Given the description of an element on the screen output the (x, y) to click on. 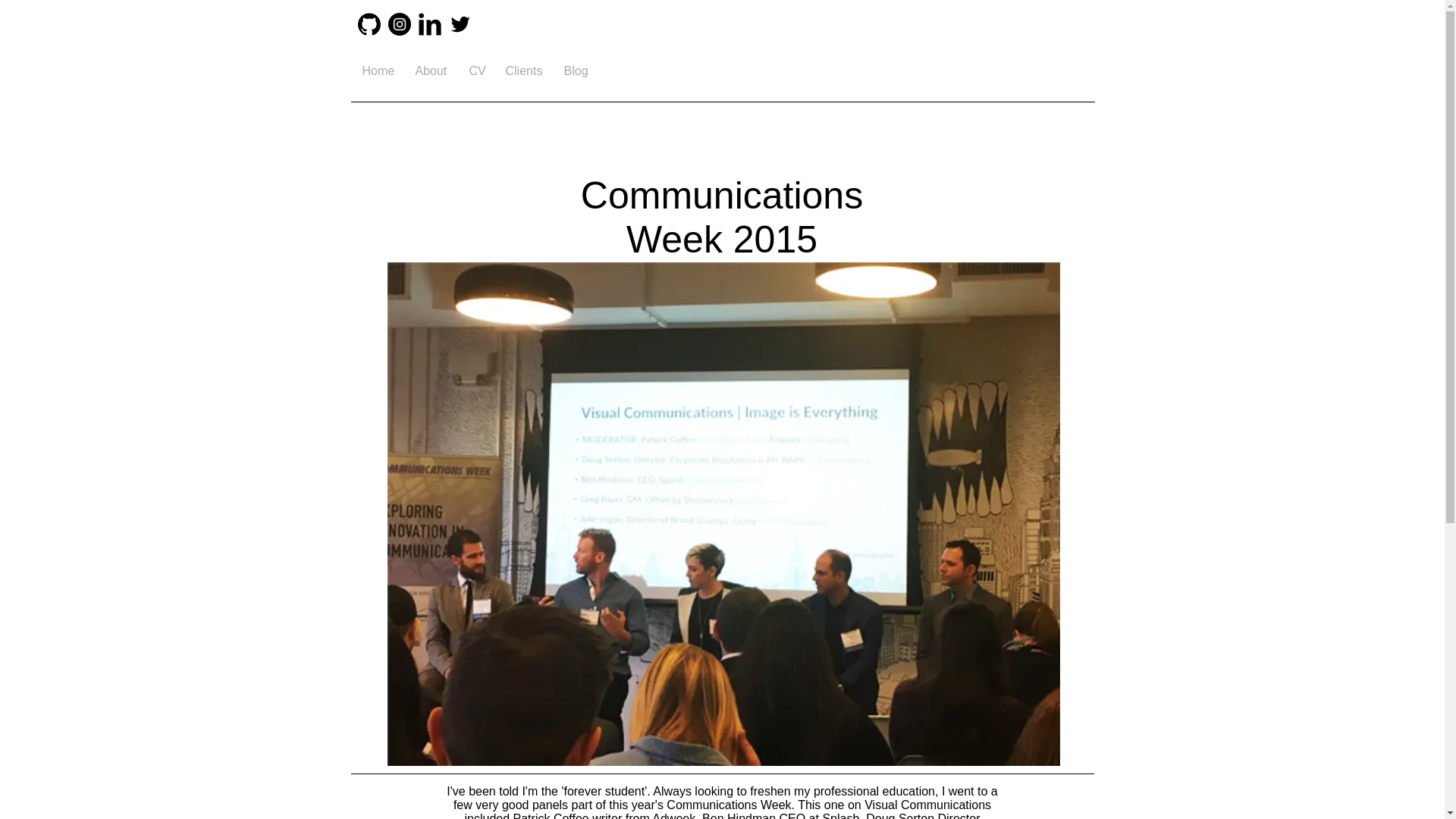
About (430, 70)
CV (476, 70)
Clients (524, 70)
Home (376, 70)
Blog (573, 70)
